Given the description of an element on the screen output the (x, y) to click on. 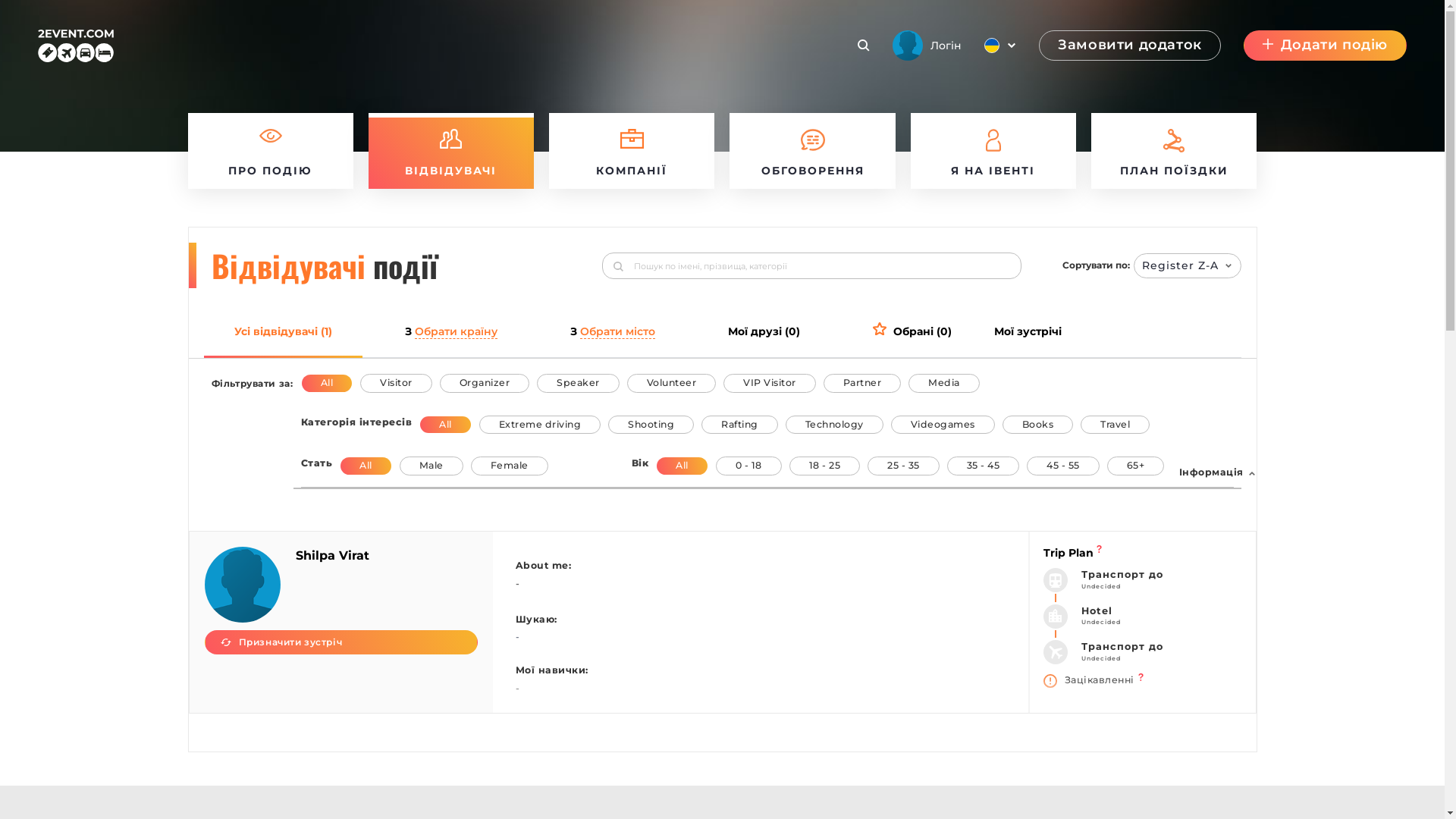
Shilpa Virat Element type: text (332, 555)
